Given the description of an element on the screen output the (x, y) to click on. 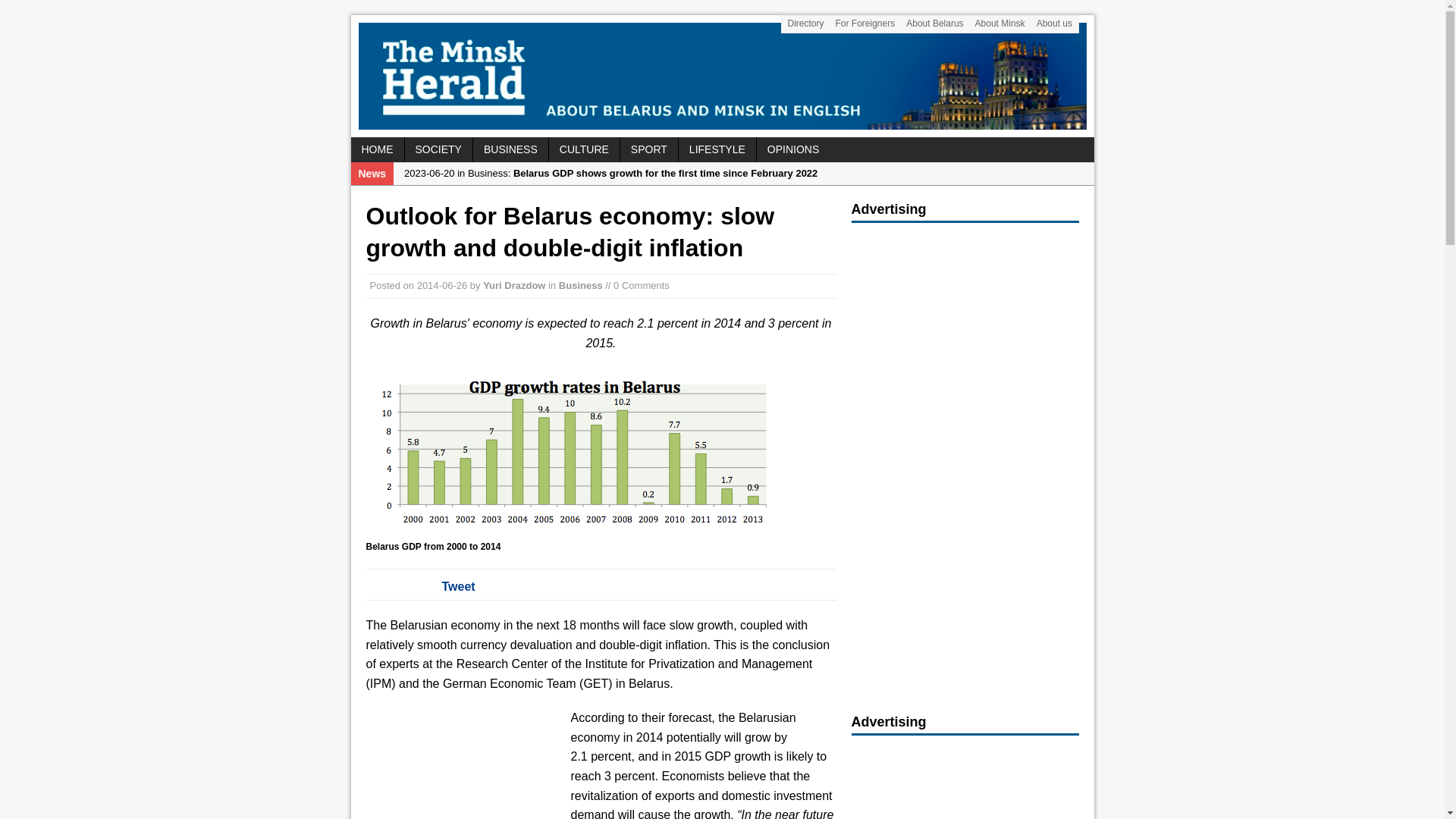
BUSINESS (510, 149)
SPORT (649, 149)
Business (580, 285)
belarus-economy-gdp-from-2000-to-2013 (575, 452)
For Foreigners (865, 23)
SOCIETY (437, 149)
Directory (805, 23)
About us (1053, 23)
LIFESTYLE (716, 149)
